Given the description of an element on the screen output the (x, y) to click on. 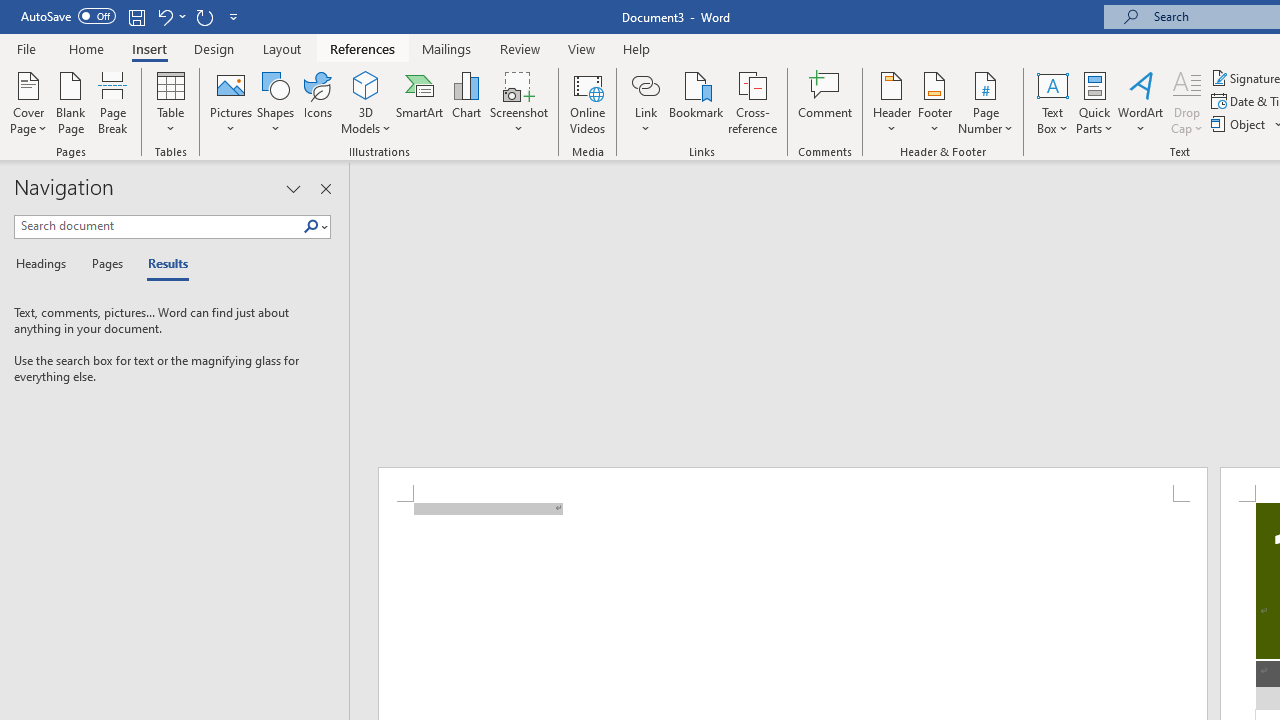
Online Videos... (588, 102)
Object... (1240, 124)
Undo New Page (170, 15)
Shapes (275, 102)
Cross-reference... (752, 102)
Pictures (230, 102)
WordArt (1141, 102)
